Given the description of an element on the screen output the (x, y) to click on. 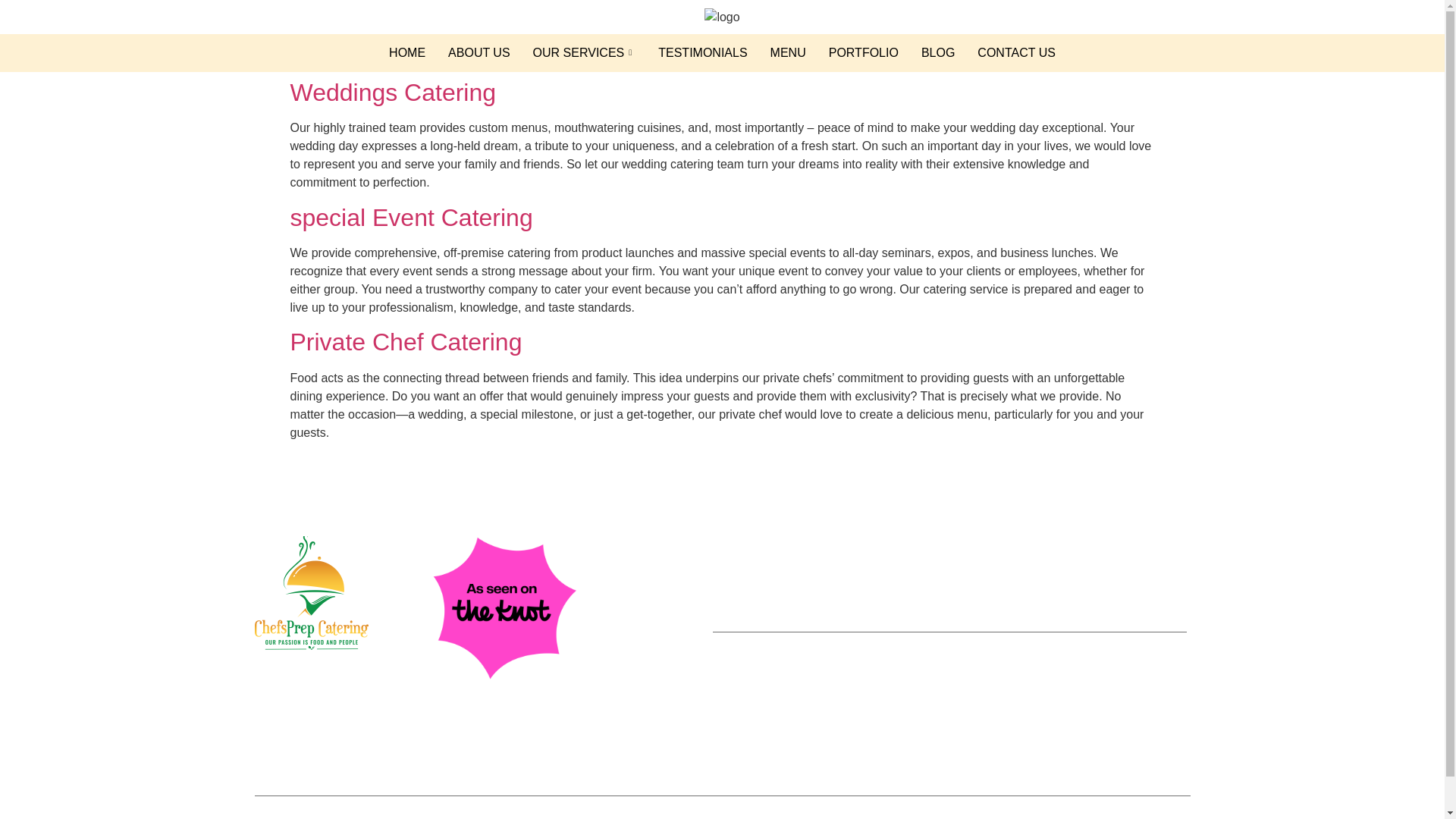
TESTIMONIALS (702, 52)
ABOUT US (478, 52)
HOME (406, 52)
special Event Catering (410, 216)
SUBMIT (1163, 589)
PORTFOLIO (863, 52)
Private Chef Catering (405, 341)
502-821-3274 (764, 653)
OUR SERVICES (584, 52)
Weddings Catering (392, 92)
